Given the description of an element on the screen output the (x, y) to click on. 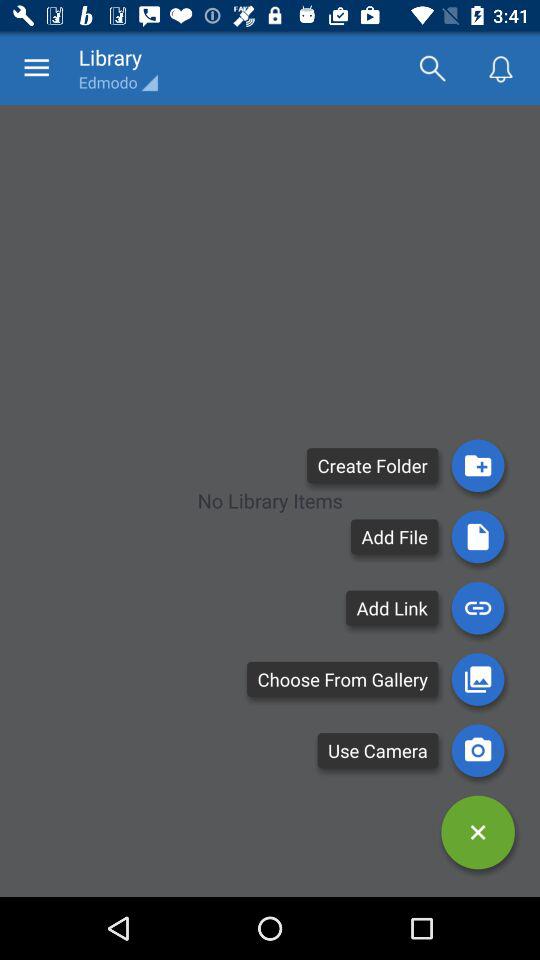
open camera (478, 750)
